Given the description of an element on the screen output the (x, y) to click on. 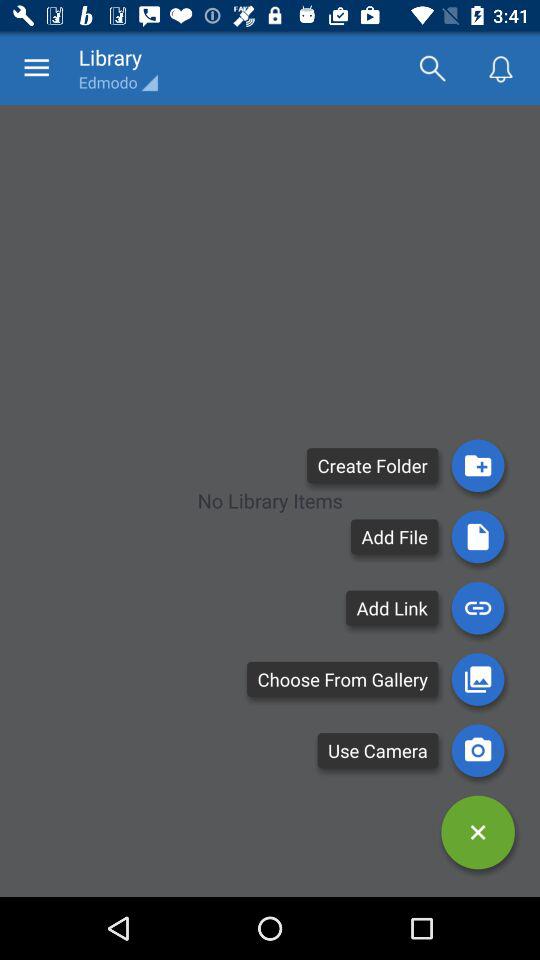
open camera (478, 750)
